Given the description of an element on the screen output the (x, y) to click on. 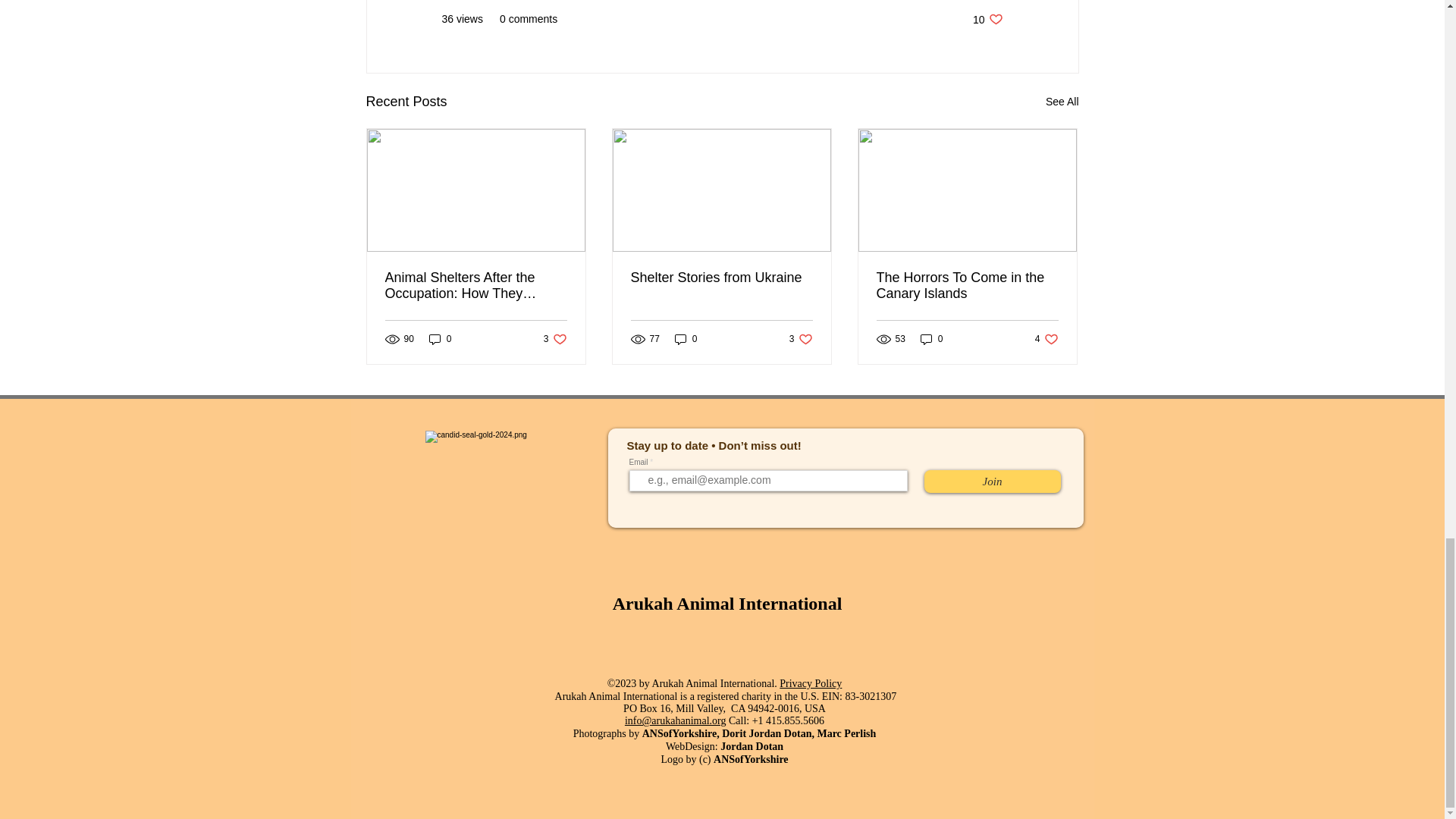
Shelter Stories from Ukraine (1046, 339)
The Horrors To Come in the Canary Islands (721, 277)
0 (555, 339)
Dorit Jordan Dotan,  (967, 286)
Join (685, 339)
Privacy Policy (769, 733)
0 (991, 481)
See All (809, 683)
0 (987, 19)
